Given the description of an element on the screen output the (x, y) to click on. 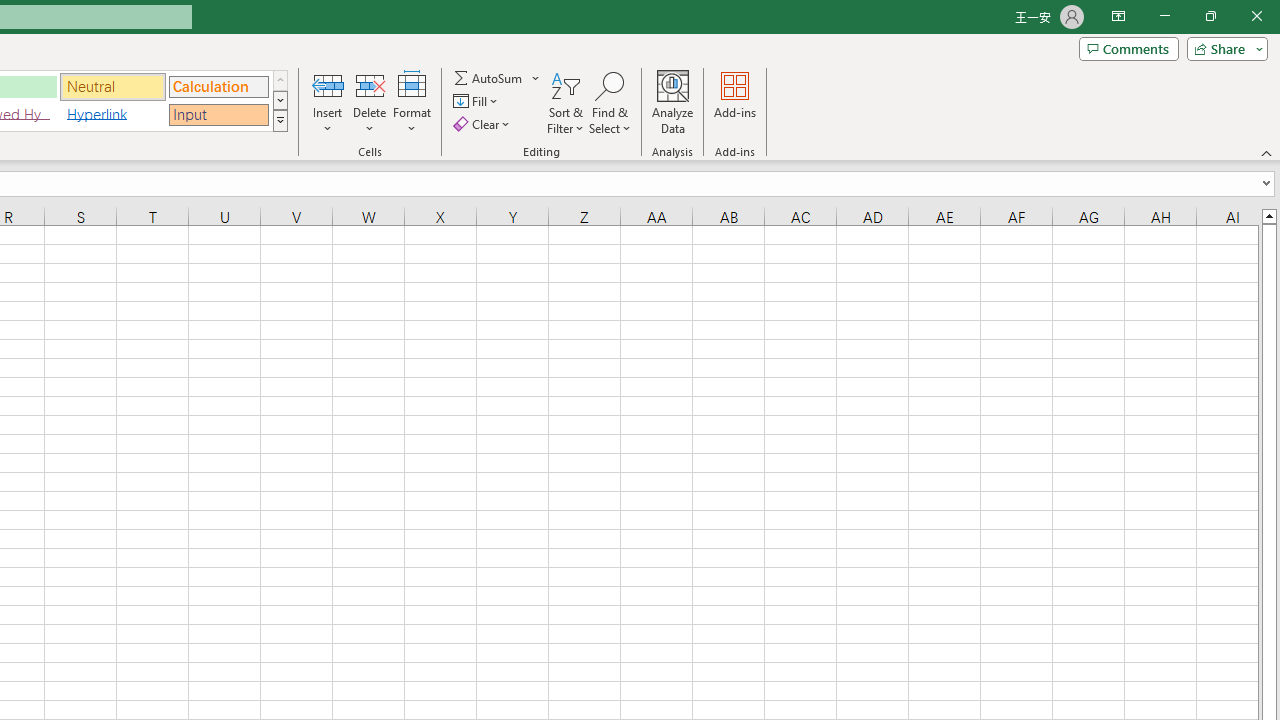
Ribbon Display Options (1118, 16)
